Given the description of an element on the screen output the (x, y) to click on. 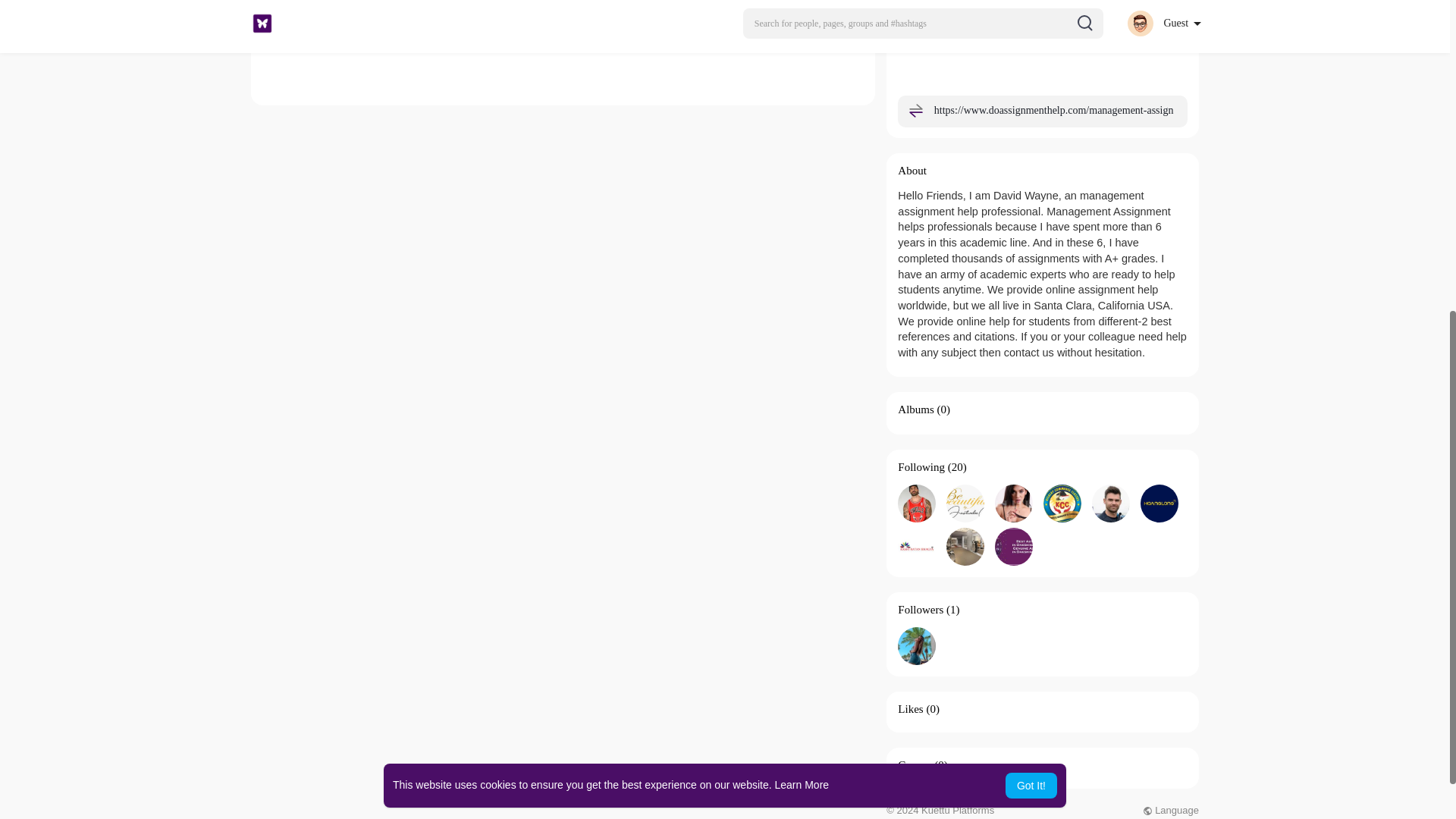
Likes (910, 708)
Albums (916, 409)
Followers (920, 609)
Got It! (1031, 247)
Groups (914, 765)
Following (921, 467)
Learn More (801, 246)
Language (1170, 809)
